Given the description of an element on the screen output the (x, y) to click on. 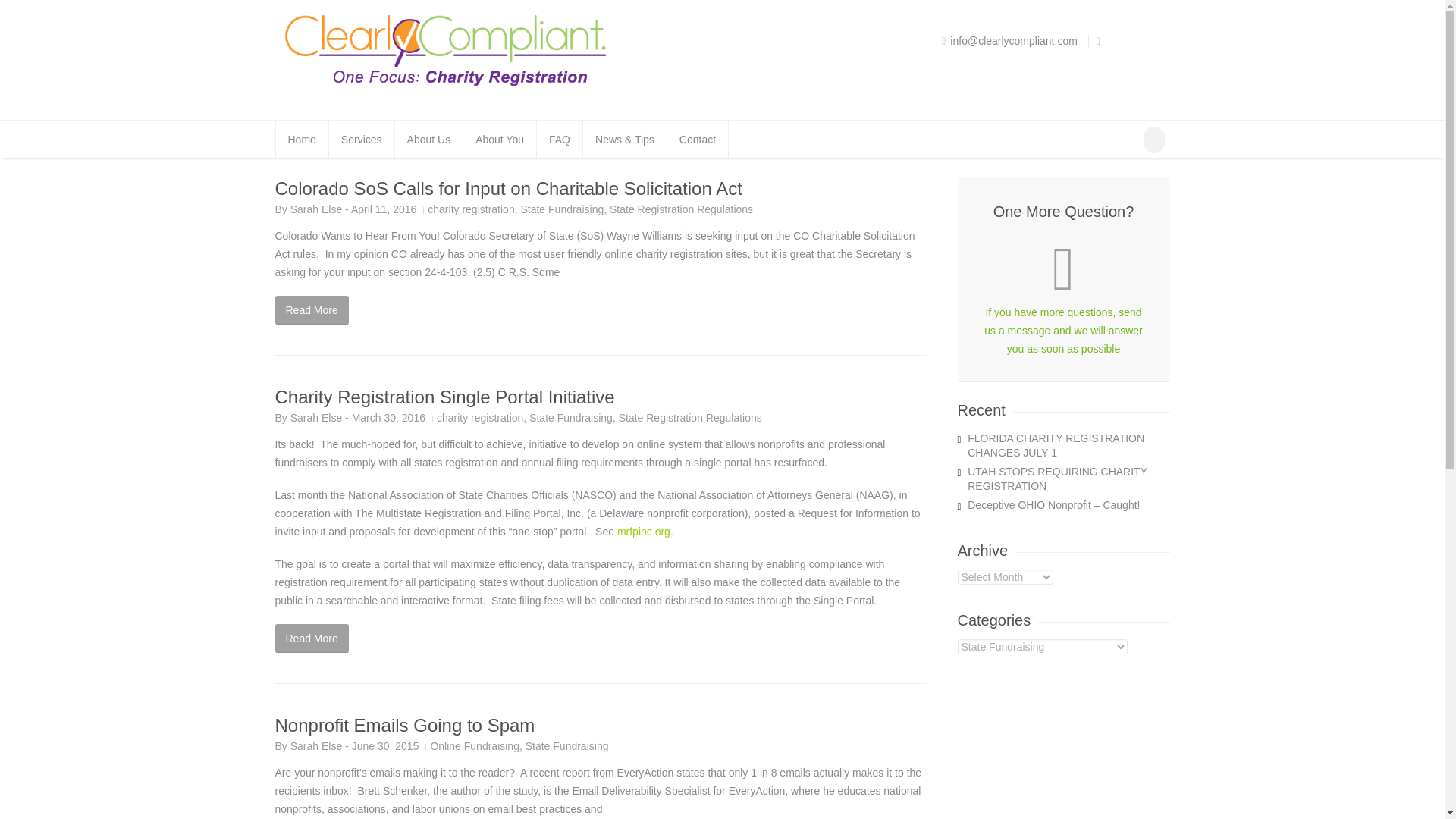
About You (499, 139)
Charity Registration Single Portal Initiative (444, 396)
charity registration (470, 209)
State Fundraising (566, 746)
Sarah Else (315, 417)
Nonprofit Emails Going to Spam (404, 724)
mrfpinc.org (643, 531)
Permalink to Charity Registration Single Portal Initiative (444, 396)
Home (302, 139)
FAQ (559, 139)
